Given the description of an element on the screen output the (x, y) to click on. 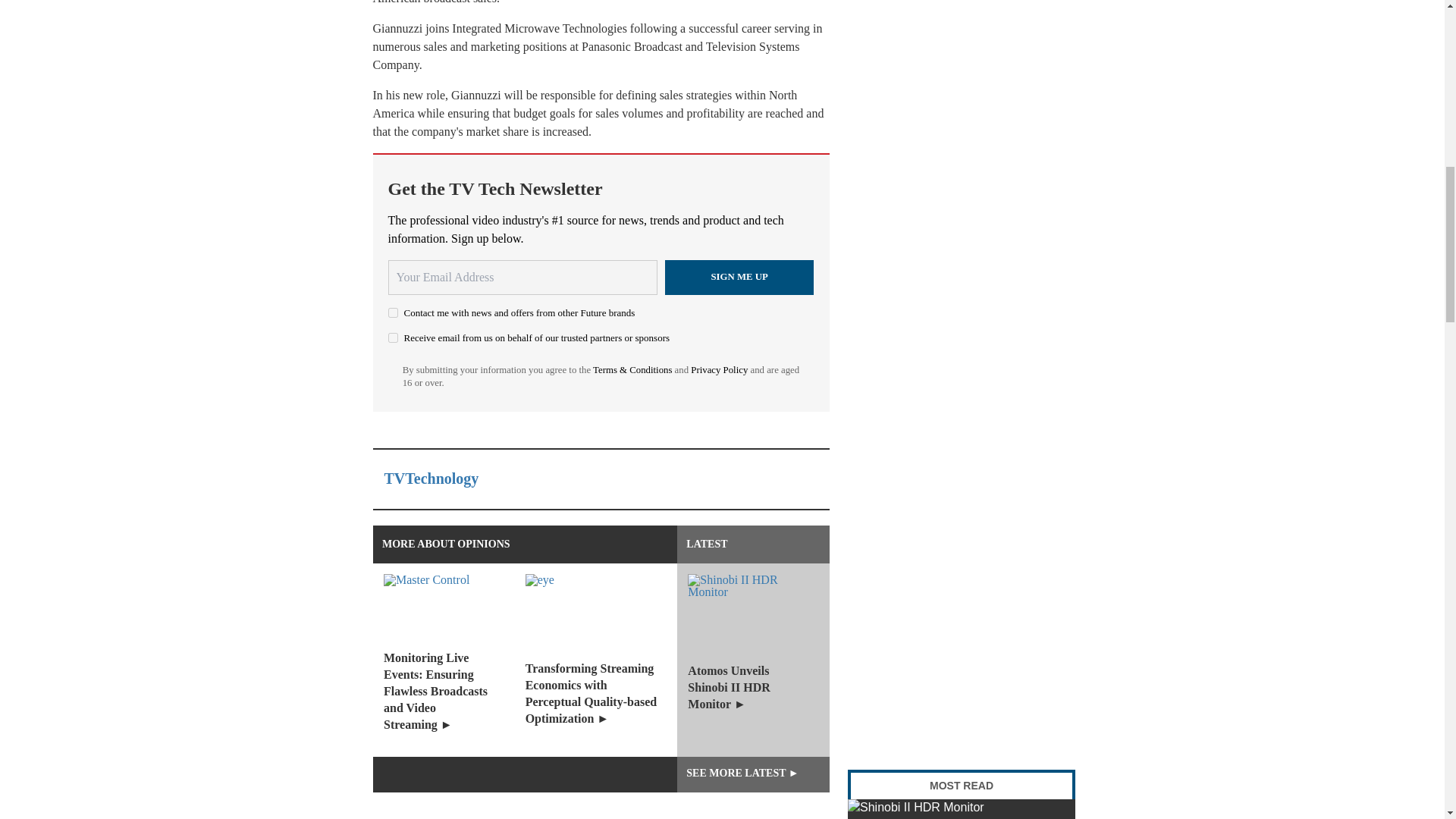
on (392, 337)
Sign me up (739, 277)
Privacy Policy (719, 369)
Sign me up (739, 277)
TVTechnology (431, 478)
Atomos Unveils Shinobi II HDR Monitor (961, 809)
on (392, 312)
